Given the description of an element on the screen output the (x, y) to click on. 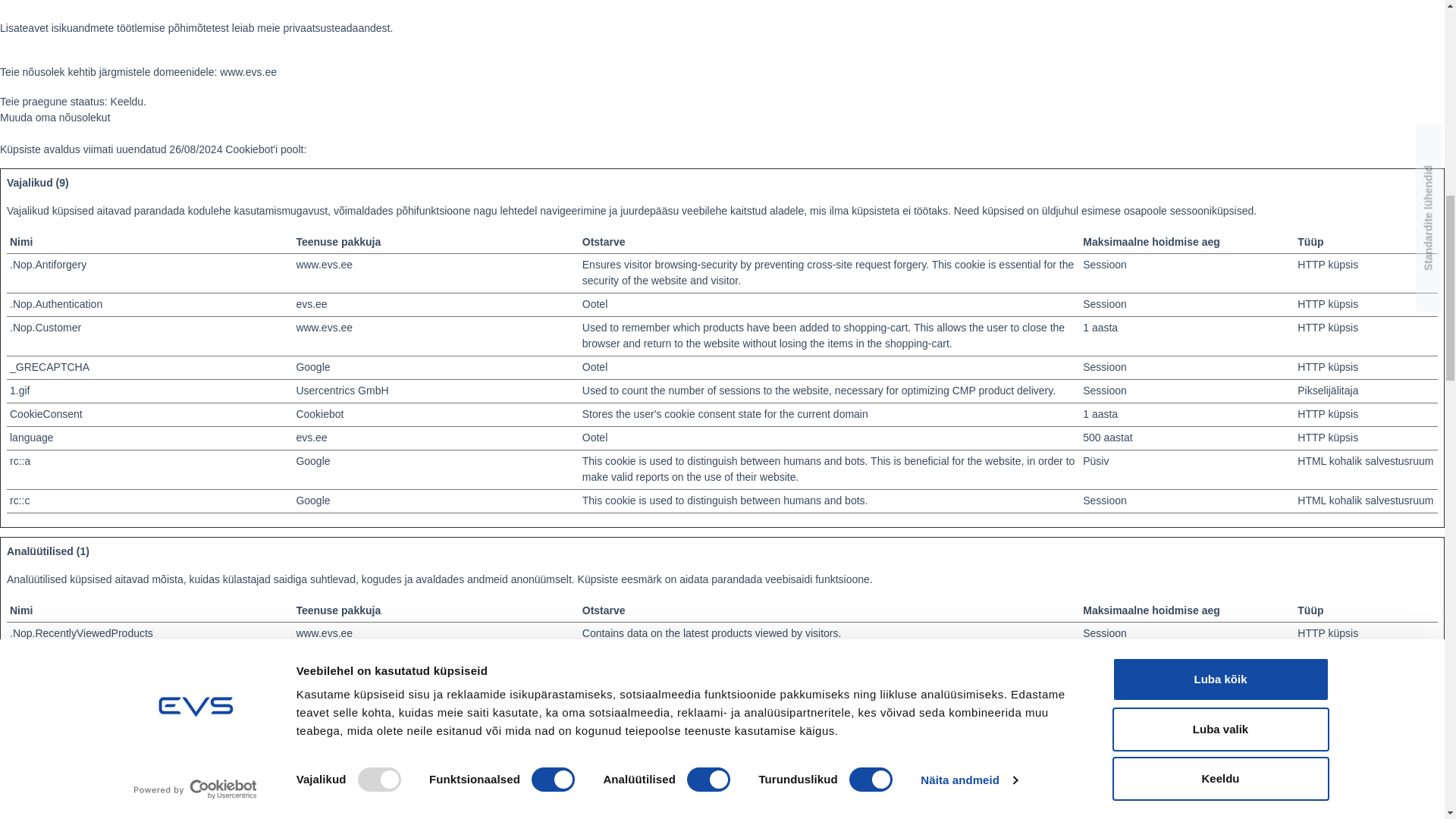
Google (312, 367)
privaatsusteadaandest (336, 28)
Google (312, 460)
Cookiebot'i (251, 149)
Cookiebot (251, 149)
Google (312, 500)
Cookiebot (319, 413)
Usercentrics GmbH (341, 390)
Ostukorv (1241, 751)
